Given the description of an element on the screen output the (x, y) to click on. 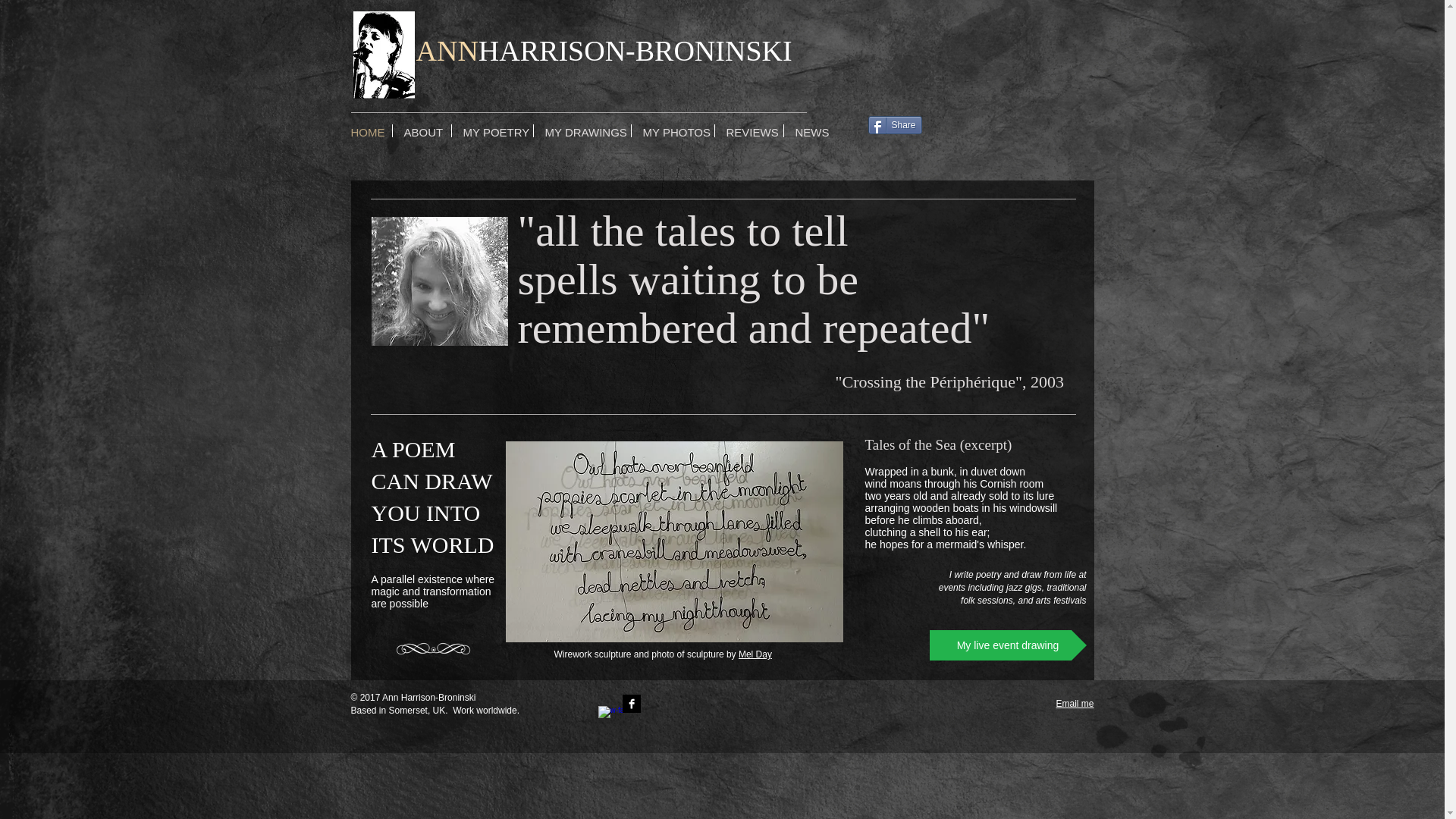
Raindance wirework (674, 541)
Share (894, 125)
ABOUT (422, 130)
My live event drawing (1008, 644)
Email me (1074, 703)
Twitter Tweet (895, 145)
HOME (365, 130)
MY POETRY (491, 130)
REVIEWS (748, 130)
Mel Day (754, 654)
Ann Harrison-Broninski.jpg (439, 281)
Twitter Follow (740, 703)
MY PHOTOS (671, 130)
Share (894, 125)
Ann and Kizzy.jpg (383, 54)
